Given the description of an element on the screen output the (x, y) to click on. 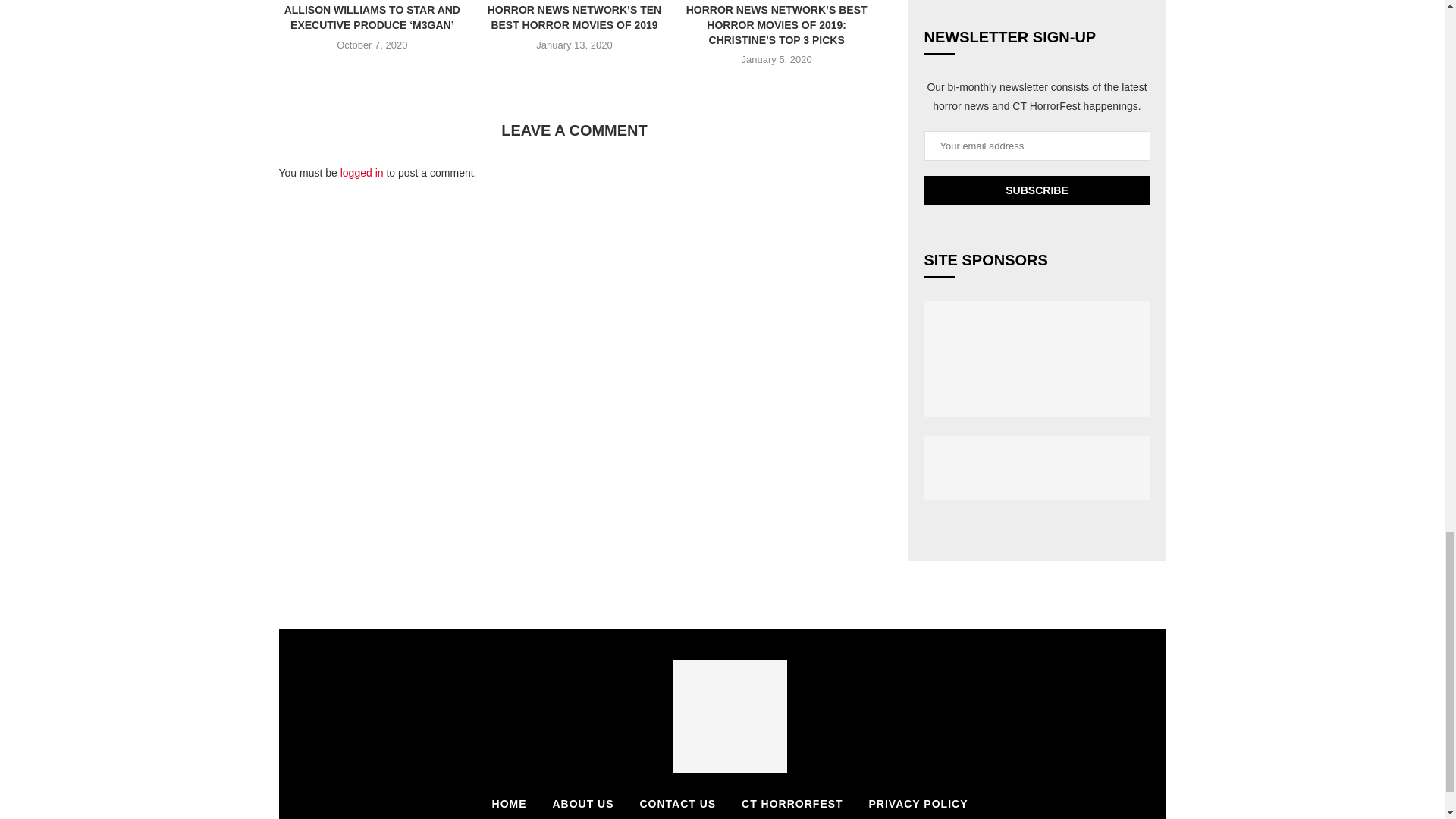
Subscribe (1036, 190)
